Given the description of an element on the screen output the (x, y) to click on. 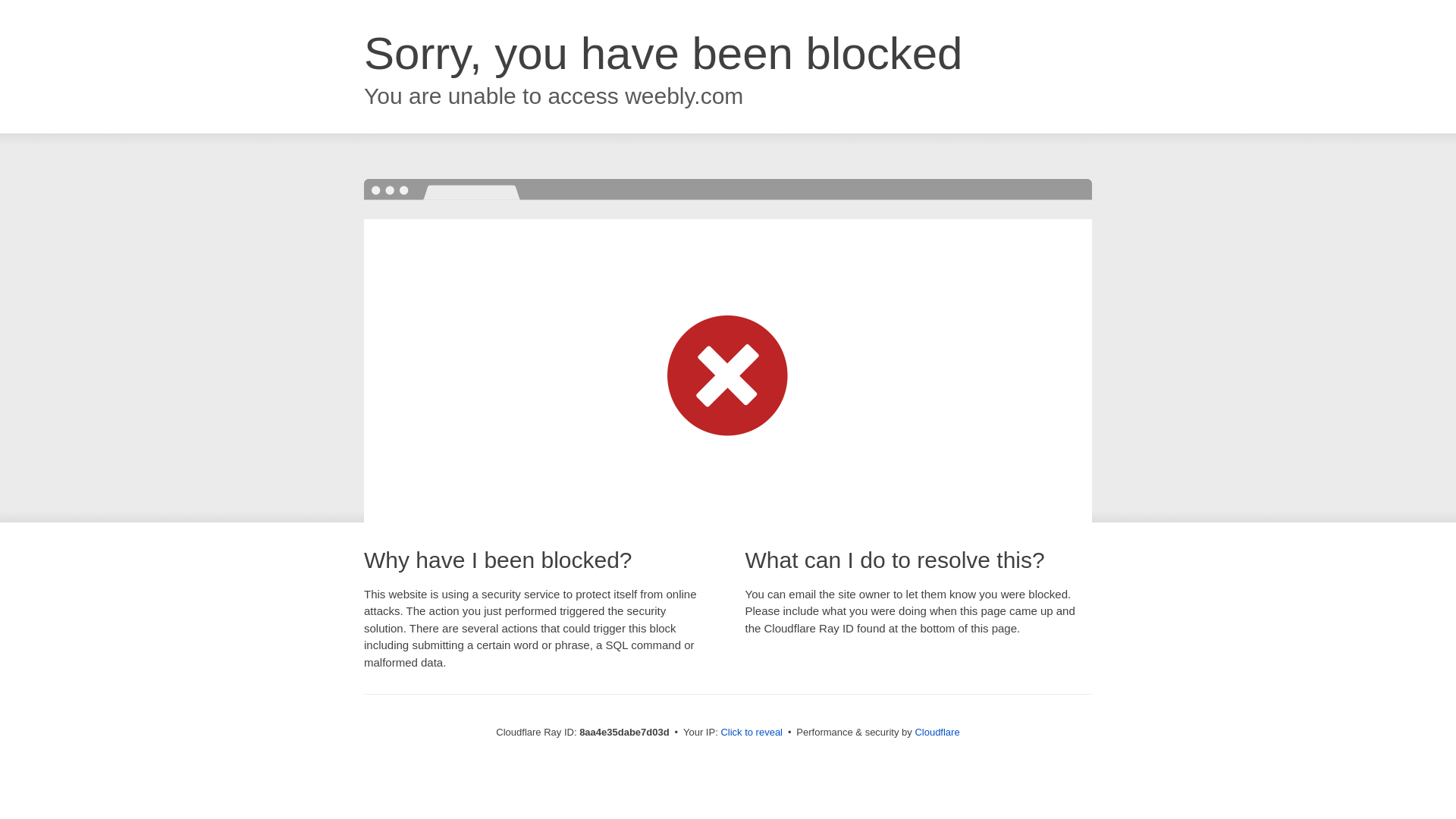
Click to reveal (751, 732)
Cloudflare (936, 731)
